Given the description of an element on the screen output the (x, y) to click on. 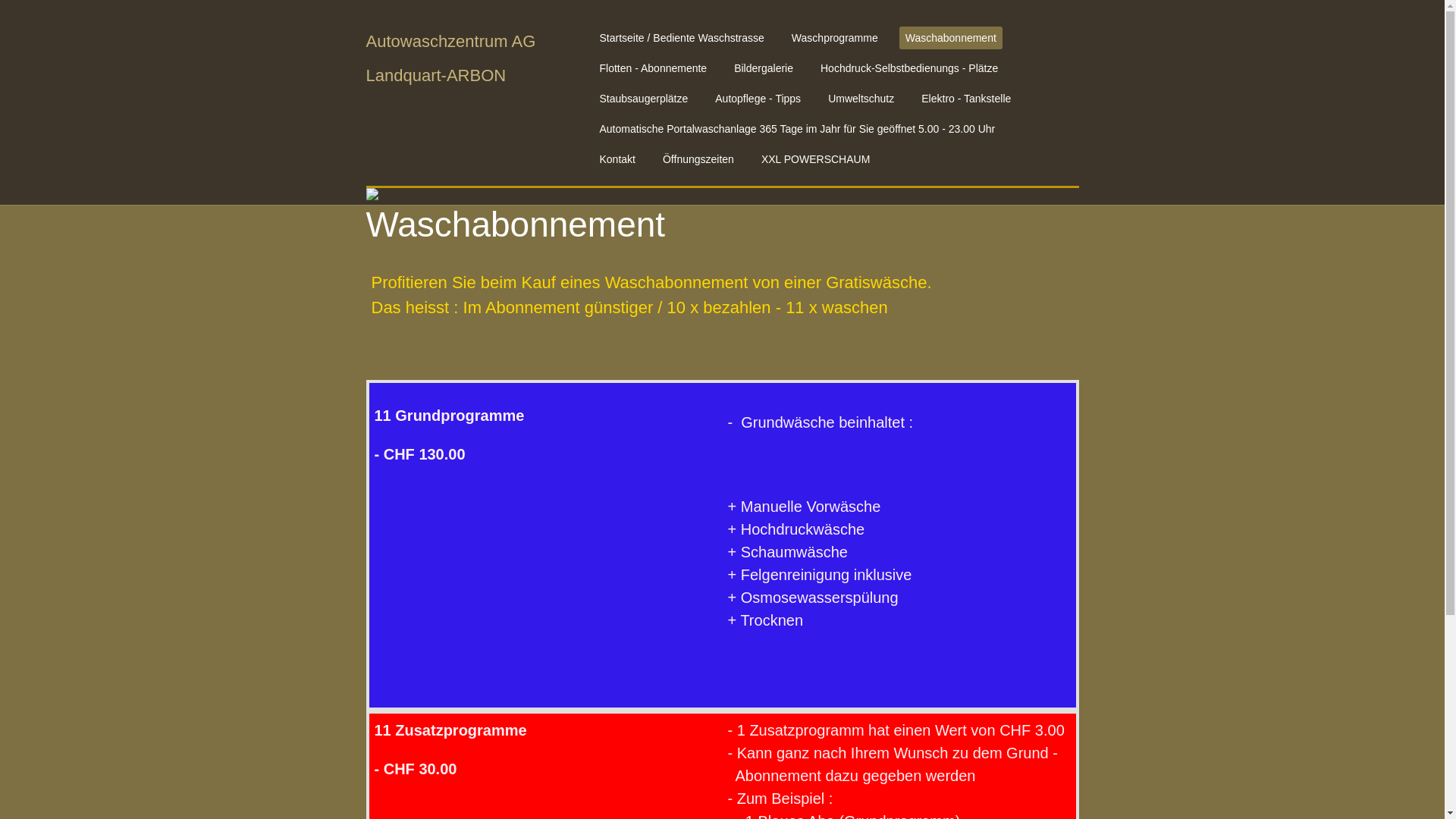
Autopflege - Tipps Element type: text (757, 98)
Startseite / Bediente Waschstrasse Element type: text (681, 37)
Kontakt Element type: text (616, 158)
Bildergalerie Element type: text (763, 67)
Umweltschutz Element type: text (861, 98)
Autowaschzentrum AG Landquart-ARBON Element type: text (471, 56)
XXL POWERSCHAUM Element type: text (815, 158)
Elektro - Tankstelle Element type: text (965, 98)
Waschprogramme Element type: text (834, 37)
Waschabonnement Element type: text (950, 37)
Flotten - Abonnemente Element type: text (652, 67)
